Given the description of an element on the screen output the (x, y) to click on. 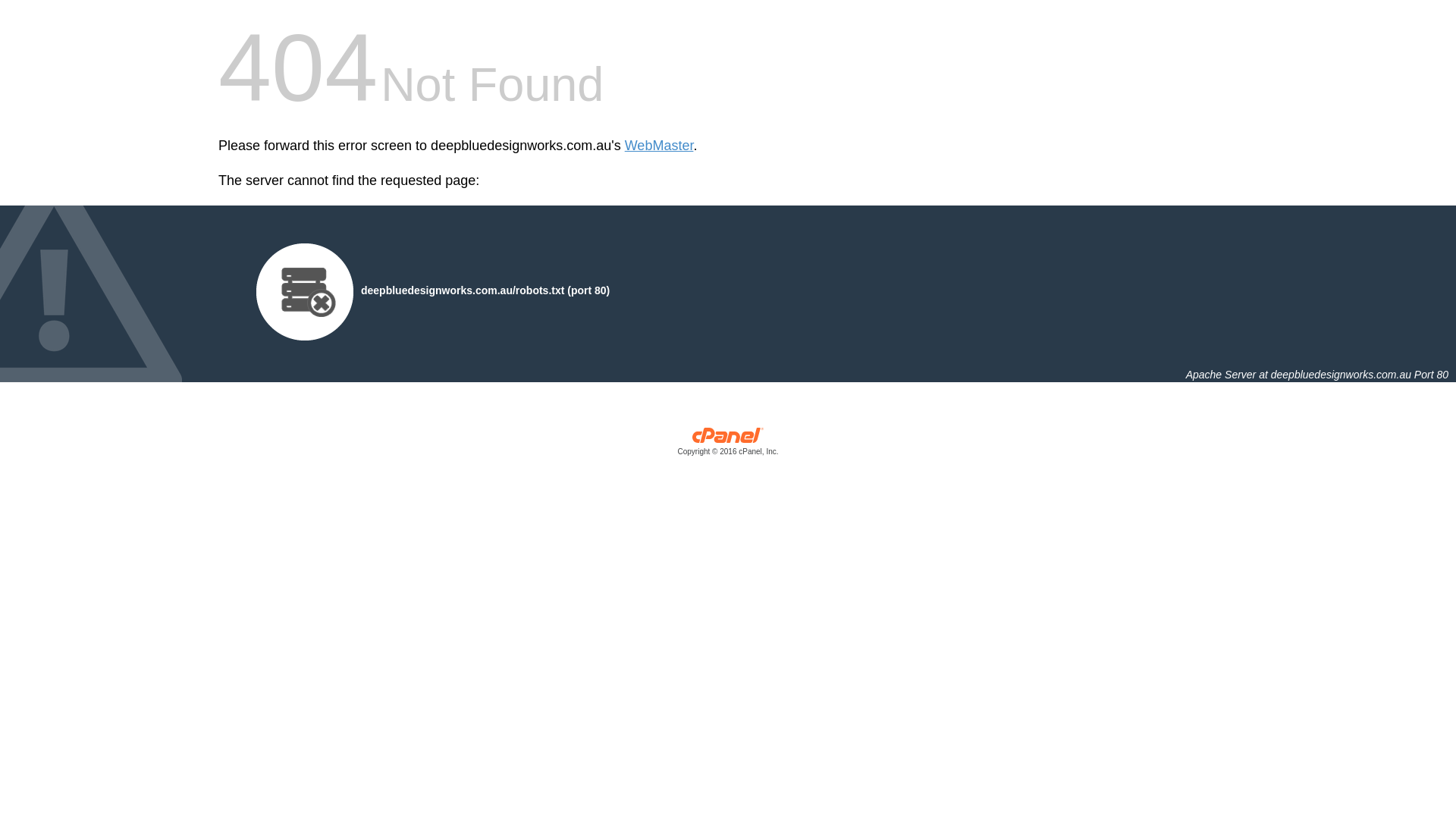
WebMaster Element type: text (658, 145)
